Given the description of an element on the screen output the (x, y) to click on. 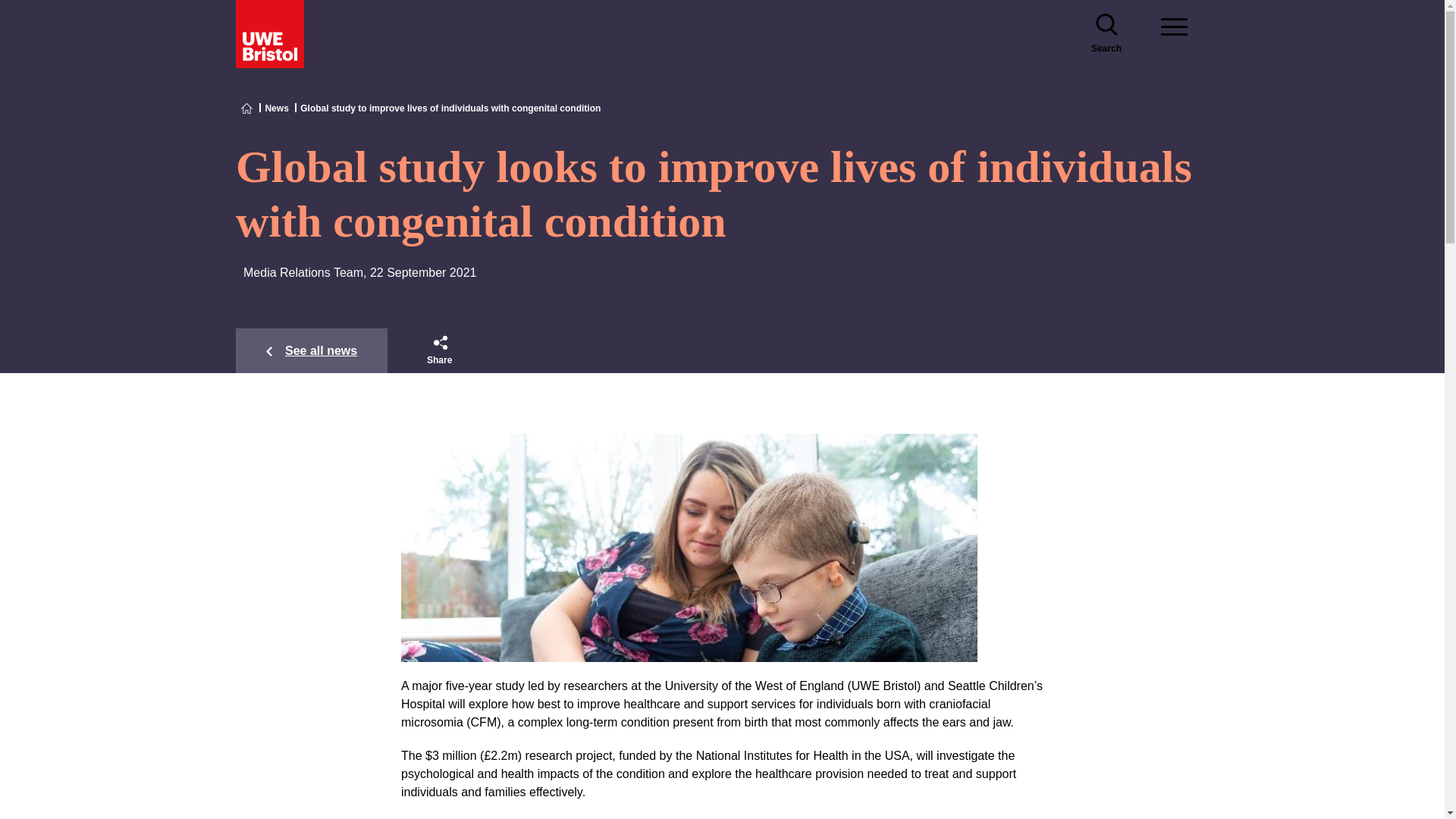
Menu (1174, 33)
Home (247, 108)
Search (1105, 33)
